Given the description of an element on the screen output the (x, y) to click on. 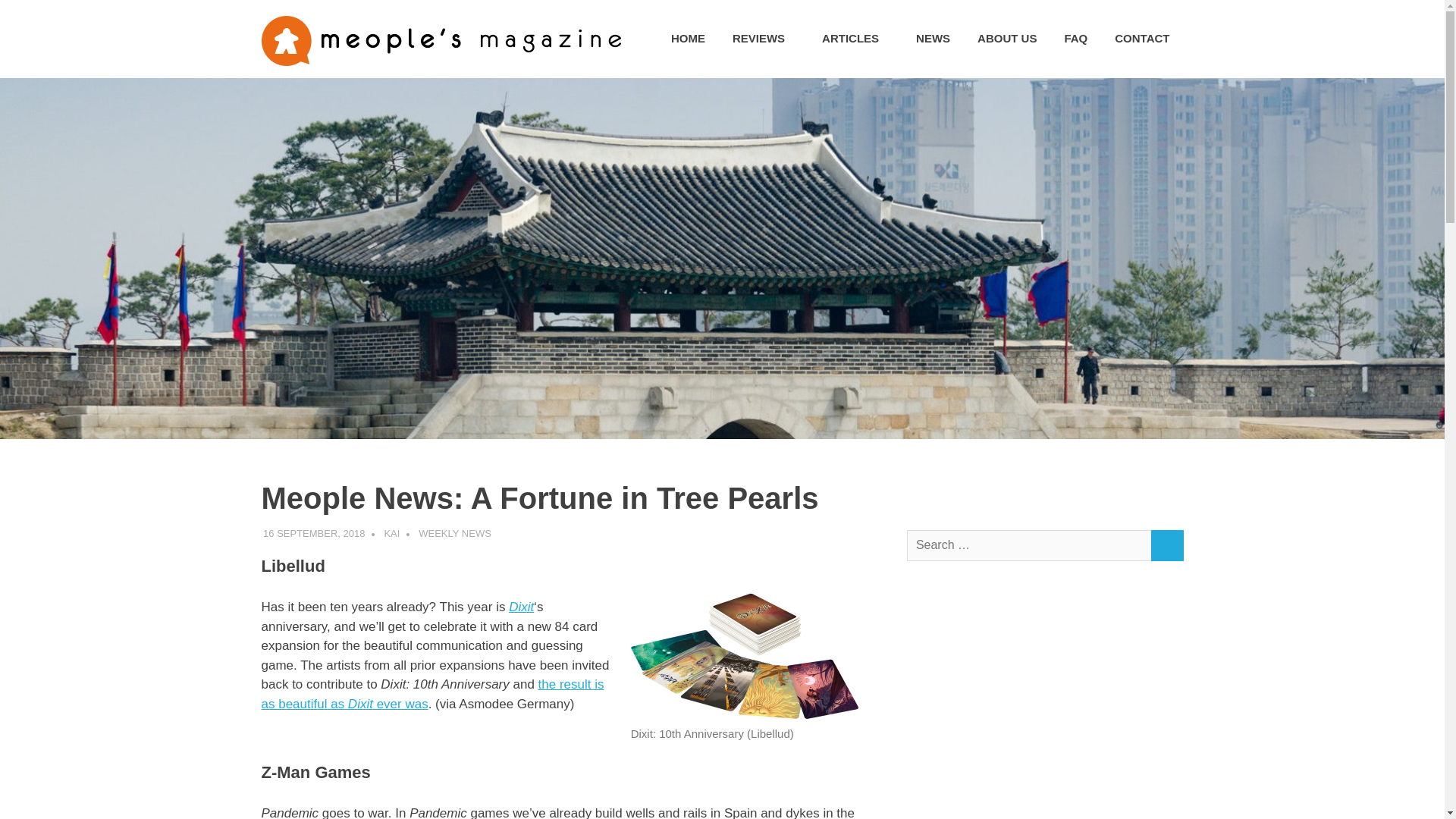
10:14 (314, 532)
REVIEWS (763, 38)
FAQ (1074, 38)
CONTACT (1141, 38)
View all posts by Kai (391, 532)
KAI (391, 532)
ABOUT US (1006, 38)
Dixit (521, 606)
WEEKLY NEWS (455, 532)
ARTICLES (855, 38)
